Given the description of an element on the screen output the (x, y) to click on. 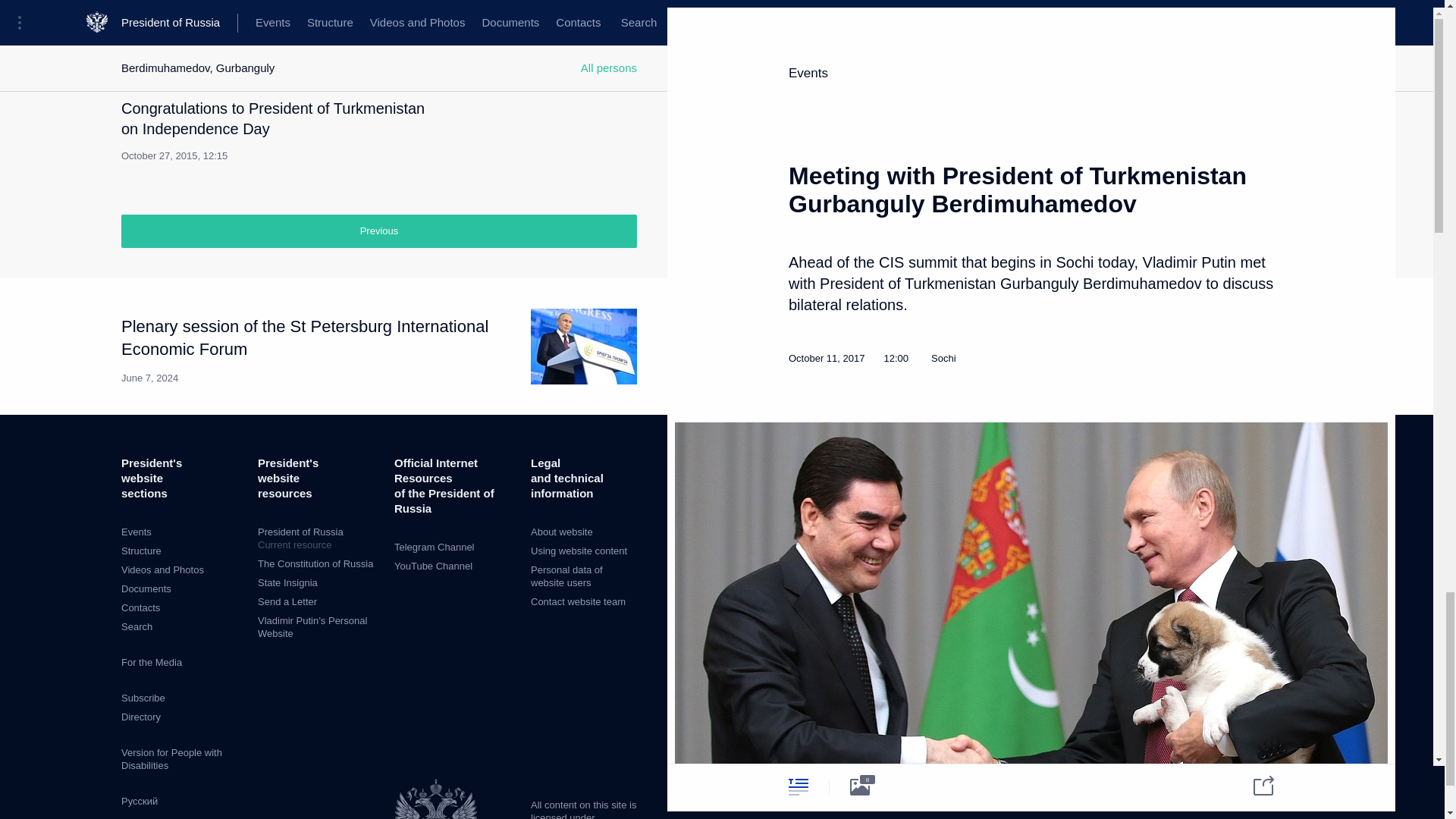
Events (135, 531)
Previous (378, 231)
Structure (140, 550)
